Given the description of an element on the screen output the (x, y) to click on. 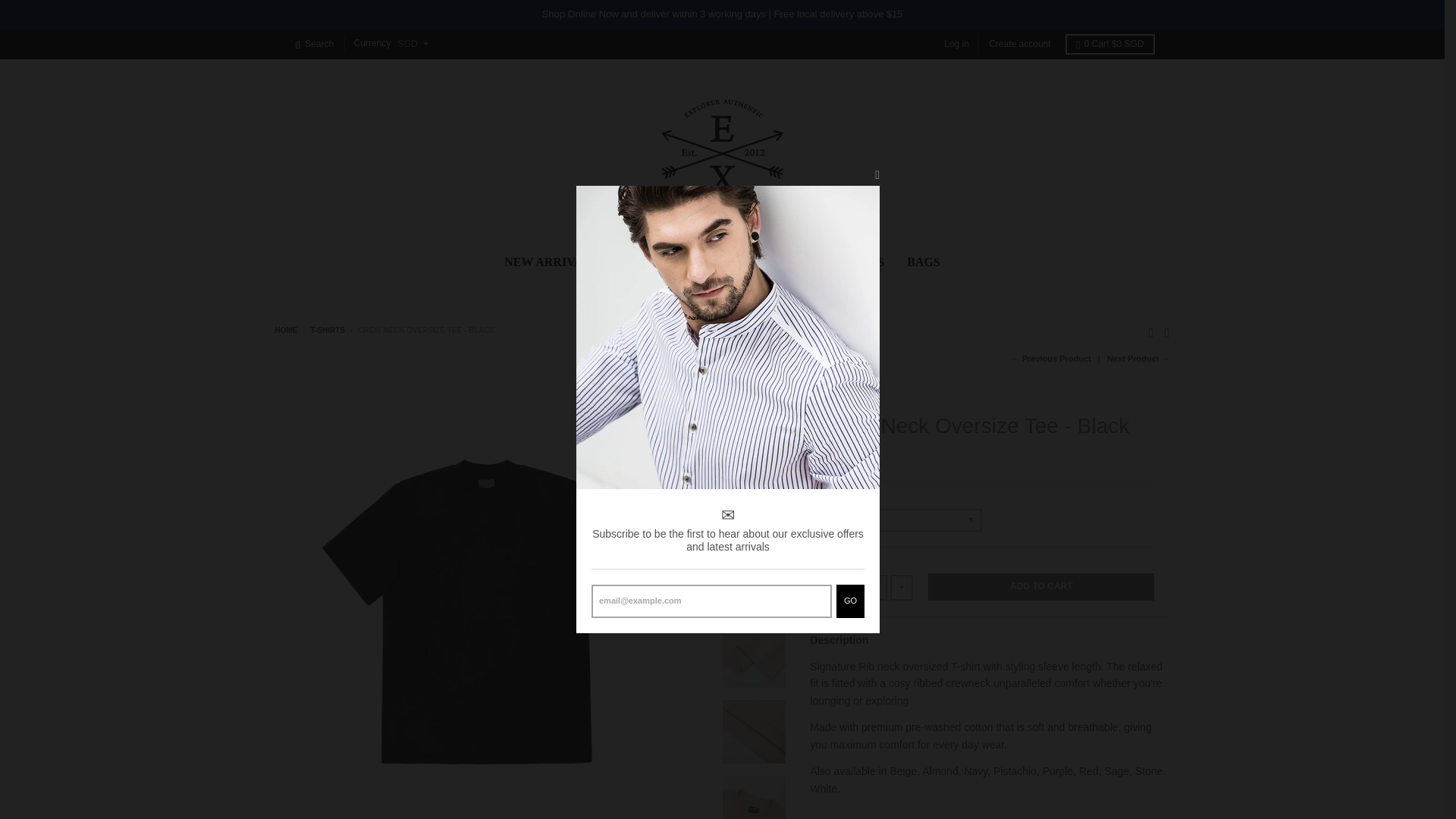
SHIRTS (646, 262)
T-SHIRTS (327, 329)
SHORTS (798, 262)
Search (313, 44)
Create account (1019, 44)
T-SHIRTS (723, 262)
Log in (956, 44)
PANTS (864, 262)
1 (868, 587)
HOME (286, 329)
BAGS (923, 262)
Back to the frontpage (286, 329)
NEW ARRIVALS (551, 262)
